Given the description of an element on the screen output the (x, y) to click on. 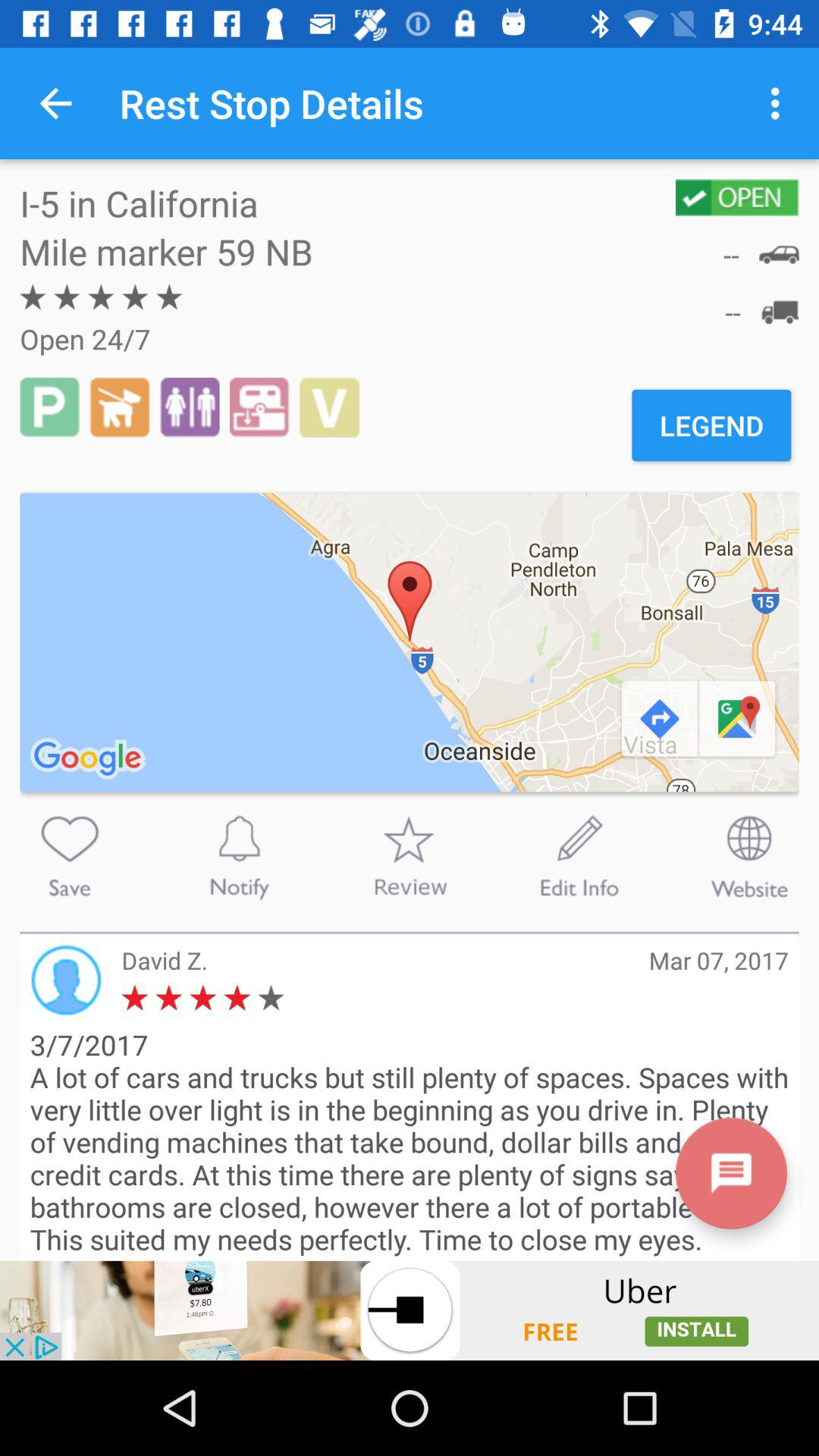
message senting button (731, 1173)
